Given the description of an element on the screen output the (x, y) to click on. 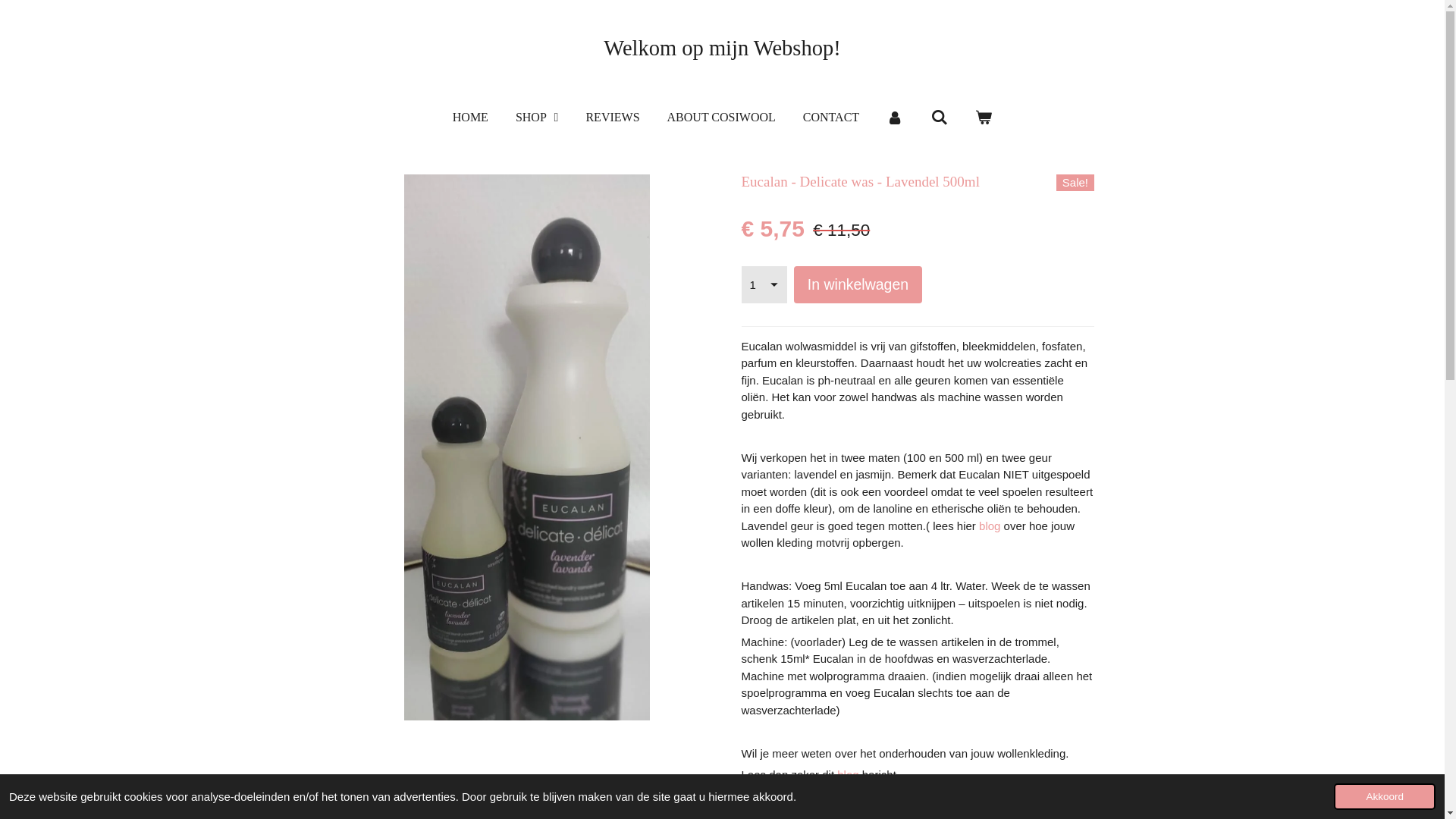
Bekijk winkelwagen Element type: hover (983, 117)
SHOP Element type: text (536, 117)
In winkelwagen Element type: text (857, 284)
Zoeken Element type: hover (938, 117)
REVIEWS Element type: text (612, 117)
Welkom op mijn Webshop! Element type: text (721, 47)
blog Element type: text (989, 525)
CONTACT Element type: text (831, 117)
Akkoord Element type: text (1384, 796)
blog Element type: text (847, 774)
ABOUT COSIWOOL Element type: text (721, 117)
HOME Element type: text (470, 117)
Account Element type: hover (894, 117)
